Given the description of an element on the screen output the (x, y) to click on. 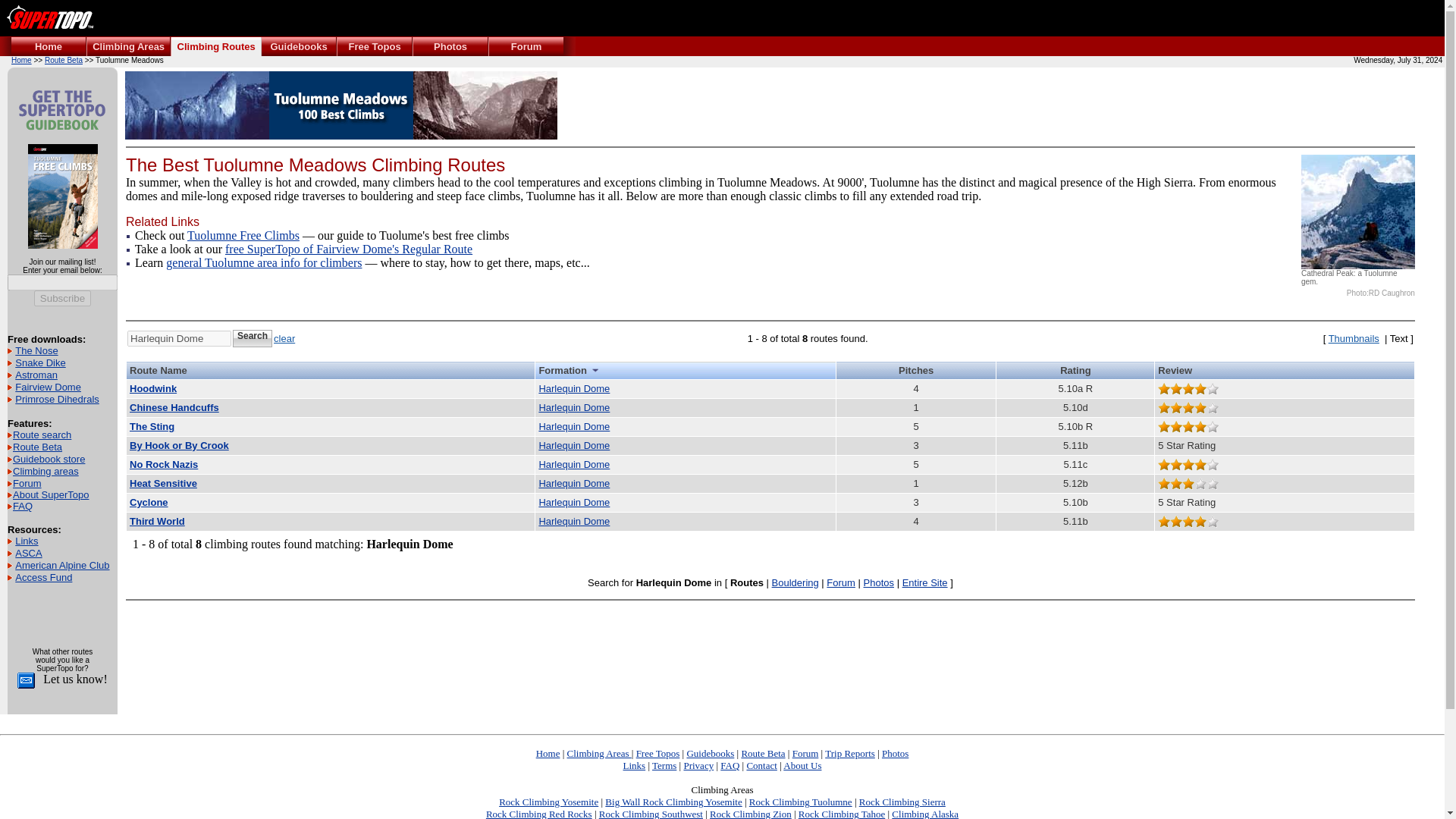
The Nose (36, 350)
  Climbing Routes   (215, 46)
Route search (42, 434)
Route Beta (63, 60)
Astroman (36, 374)
Search (252, 338)
Let us know! (73, 678)
  Free Topos   (374, 46)
  Home   (48, 46)
FAQ (22, 505)
Guidebook store (48, 459)
ASCA (28, 552)
American Alpine Club (61, 564)
Forum (27, 482)
  Forum   (526, 46)
